Given the description of an element on the screen output the (x, y) to click on. 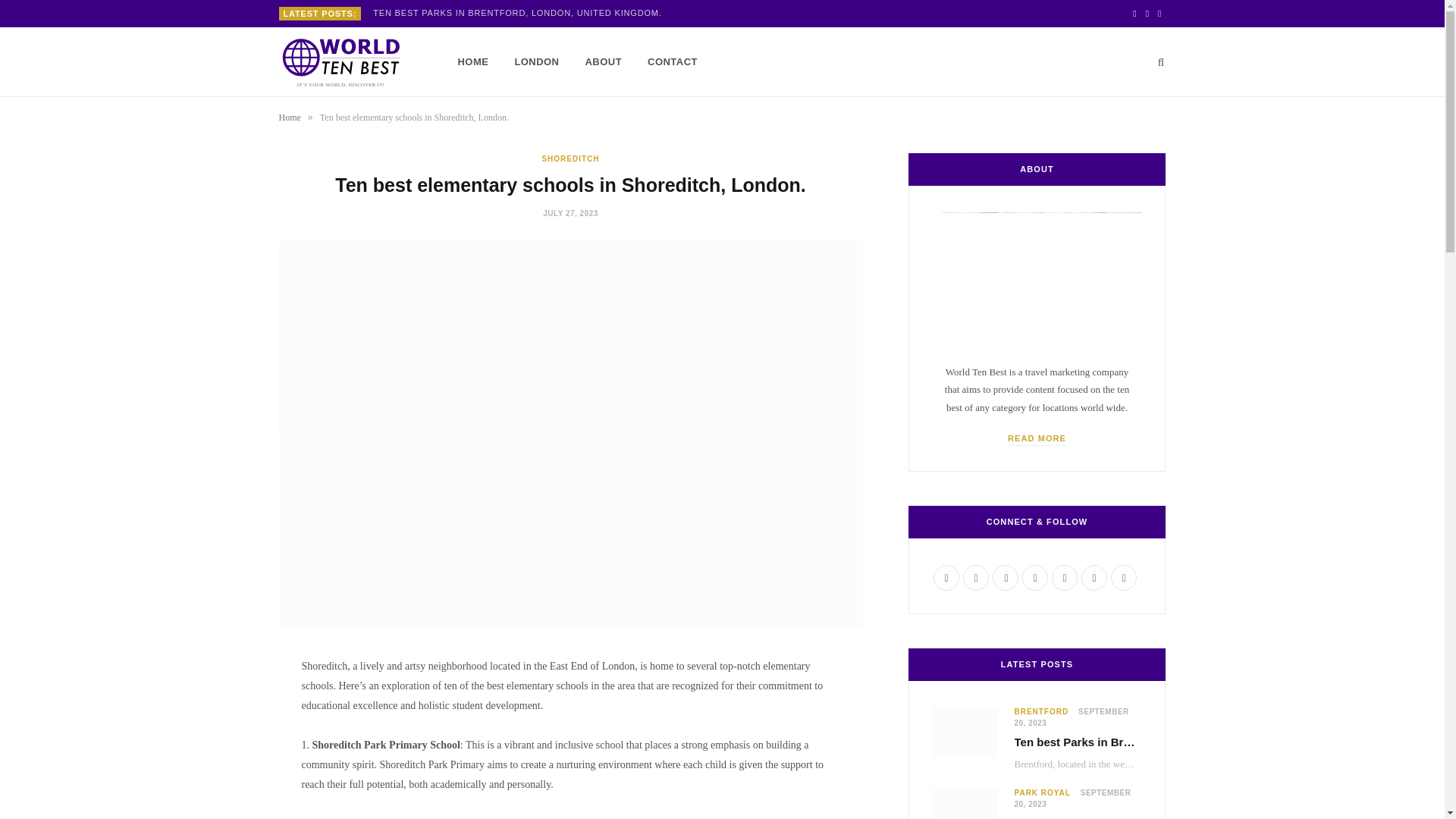
SHOREDITCH (569, 158)
CONTACT (672, 61)
Home (290, 117)
JULY 27, 2023 (570, 213)
World Ten Best (344, 61)
LONDON (536, 61)
TEN BEST PARKS IN BRENTFORD, LONDON, UNITED KINGDOM. (520, 12)
Ten best Parks in Brentford, London, United Kingdom. (520, 12)
